Given the description of an element on the screen output the (x, y) to click on. 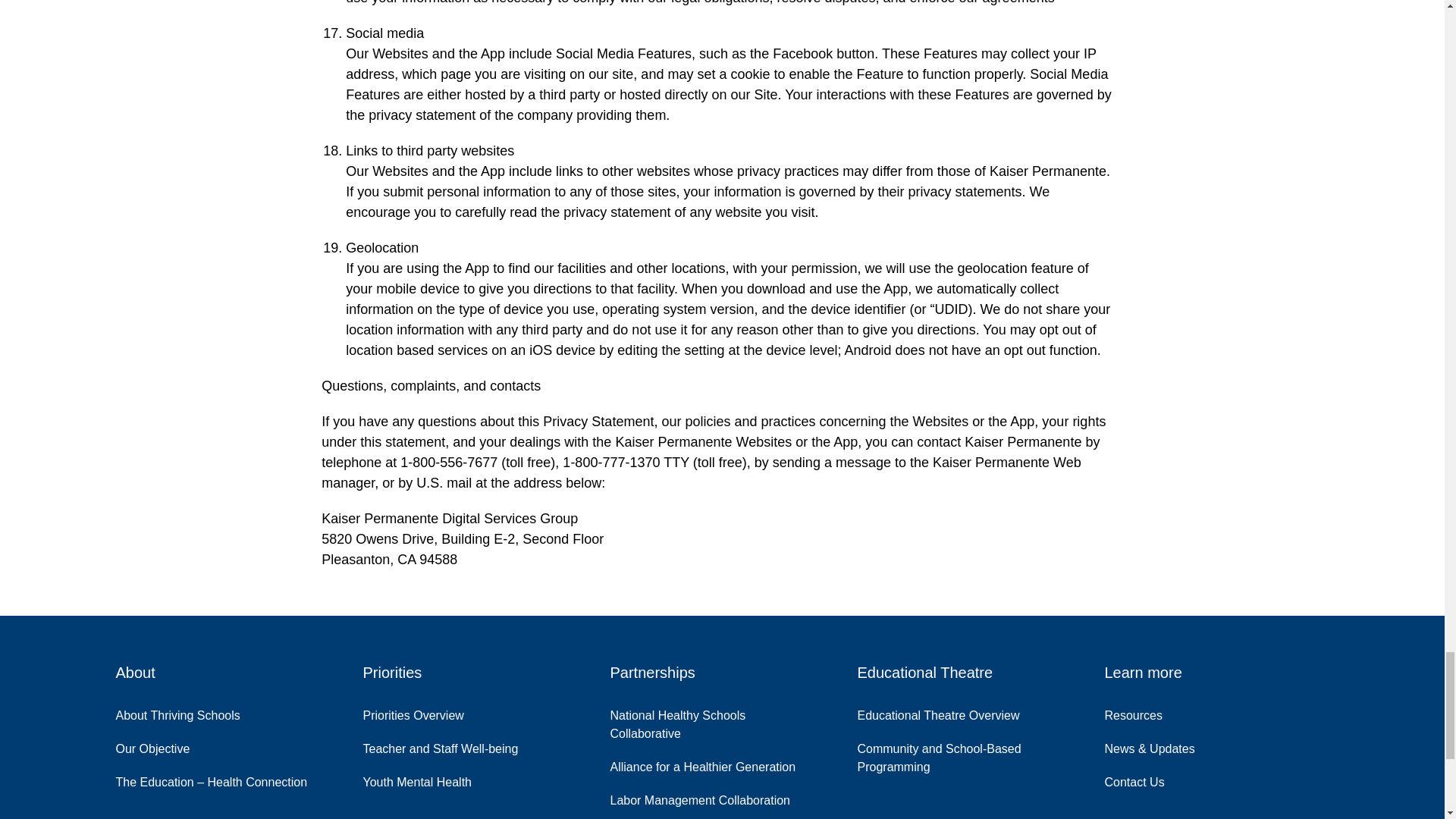
Resources (1144, 711)
Teacher and Staff Well-being (451, 745)
Educational Theatre Overview (949, 711)
Community and School-Based Programming (969, 754)
Labor Management Collaboration (711, 797)
Our Objective (163, 745)
Priorities Overview (424, 711)
Youth Mental Health (428, 778)
About Thriving Schools (188, 711)
National Healthy Schools Collaborative (722, 720)
